Given the description of an element on the screen output the (x, y) to click on. 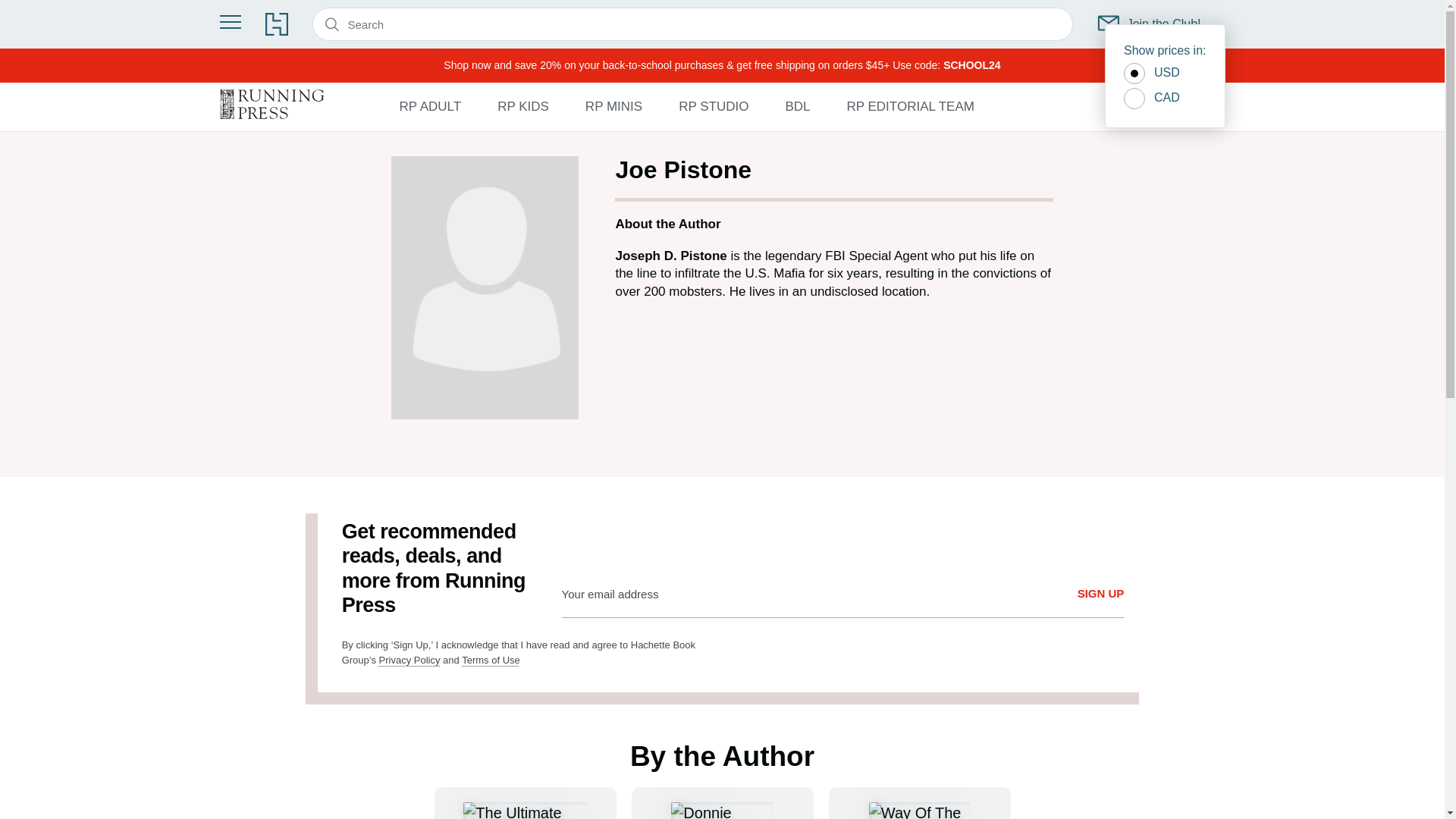
Go to Hachette Book Group home (276, 24)
RP KIDS (522, 106)
SIGN UP (1100, 593)
RP MINIS (613, 106)
RP EDITORIAL TEAM (909, 106)
RP ADULT (429, 106)
Join the Club! (1149, 24)
RP STUDIO (713, 106)
BDL (796, 106)
